Given the description of an element on the screen output the (x, y) to click on. 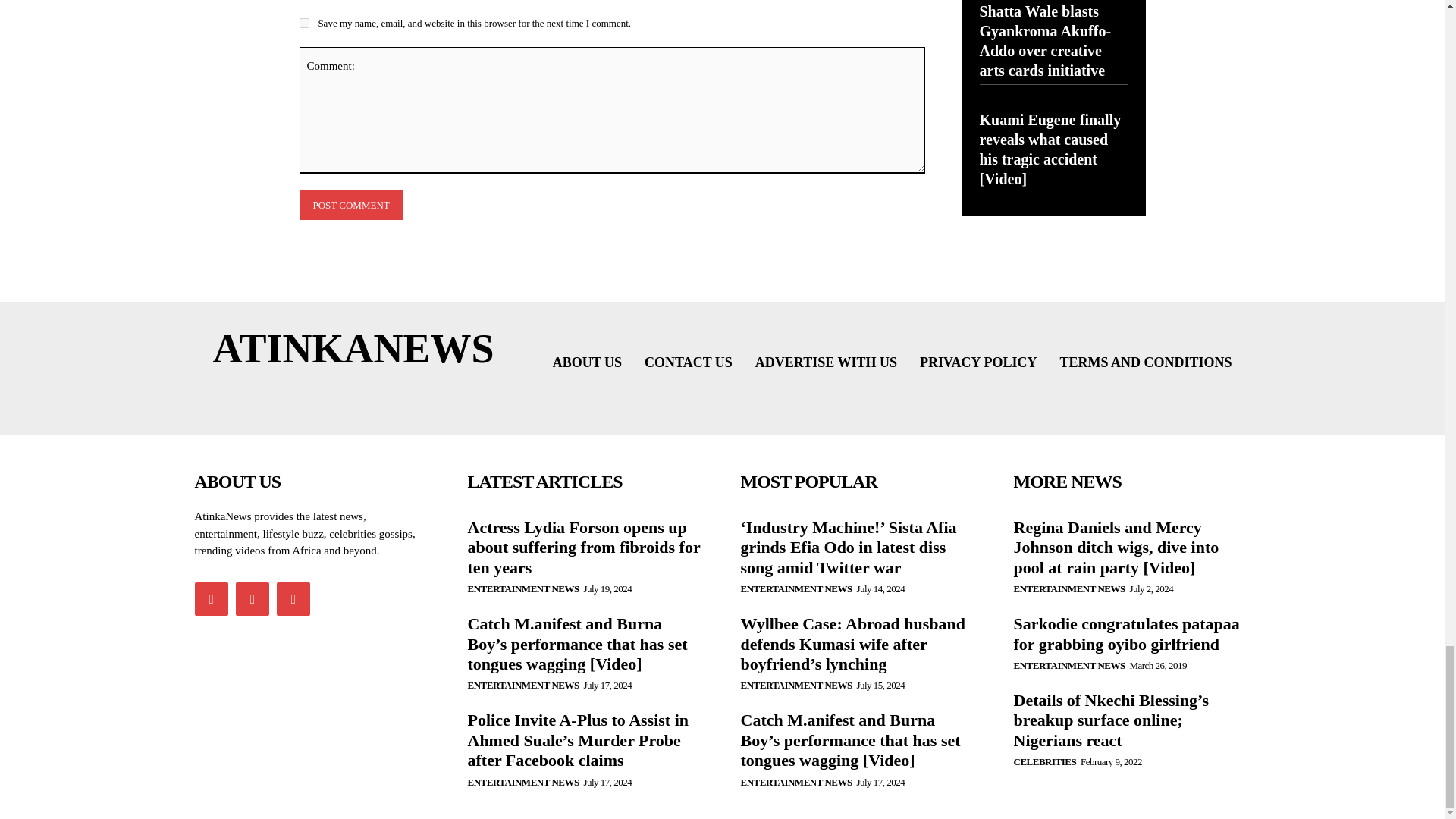
yes (303, 22)
Post Comment (350, 205)
